Given the description of an element on the screen output the (x, y) to click on. 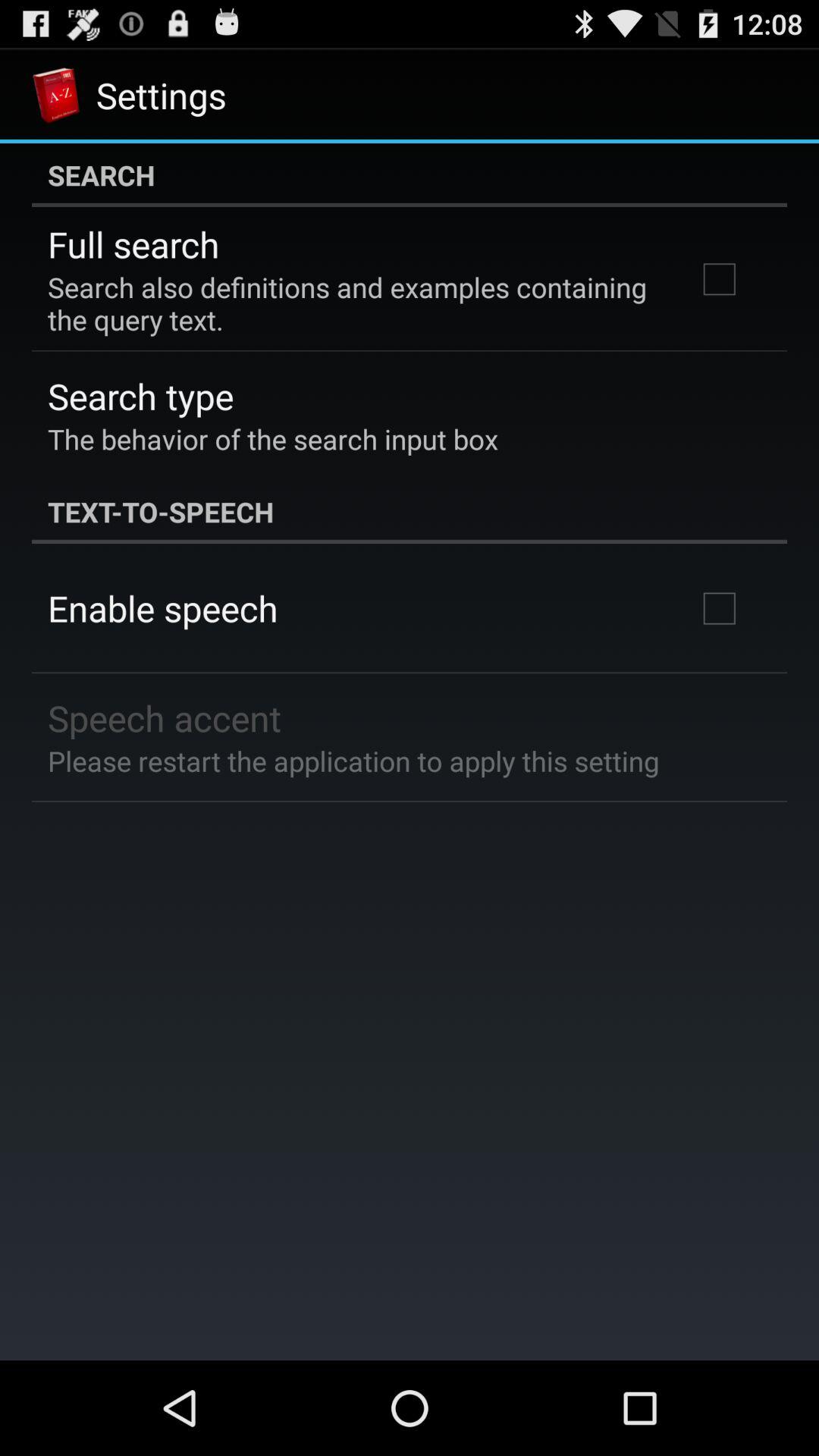
swipe until search type icon (140, 395)
